Given the description of an element on the screen output the (x, y) to click on. 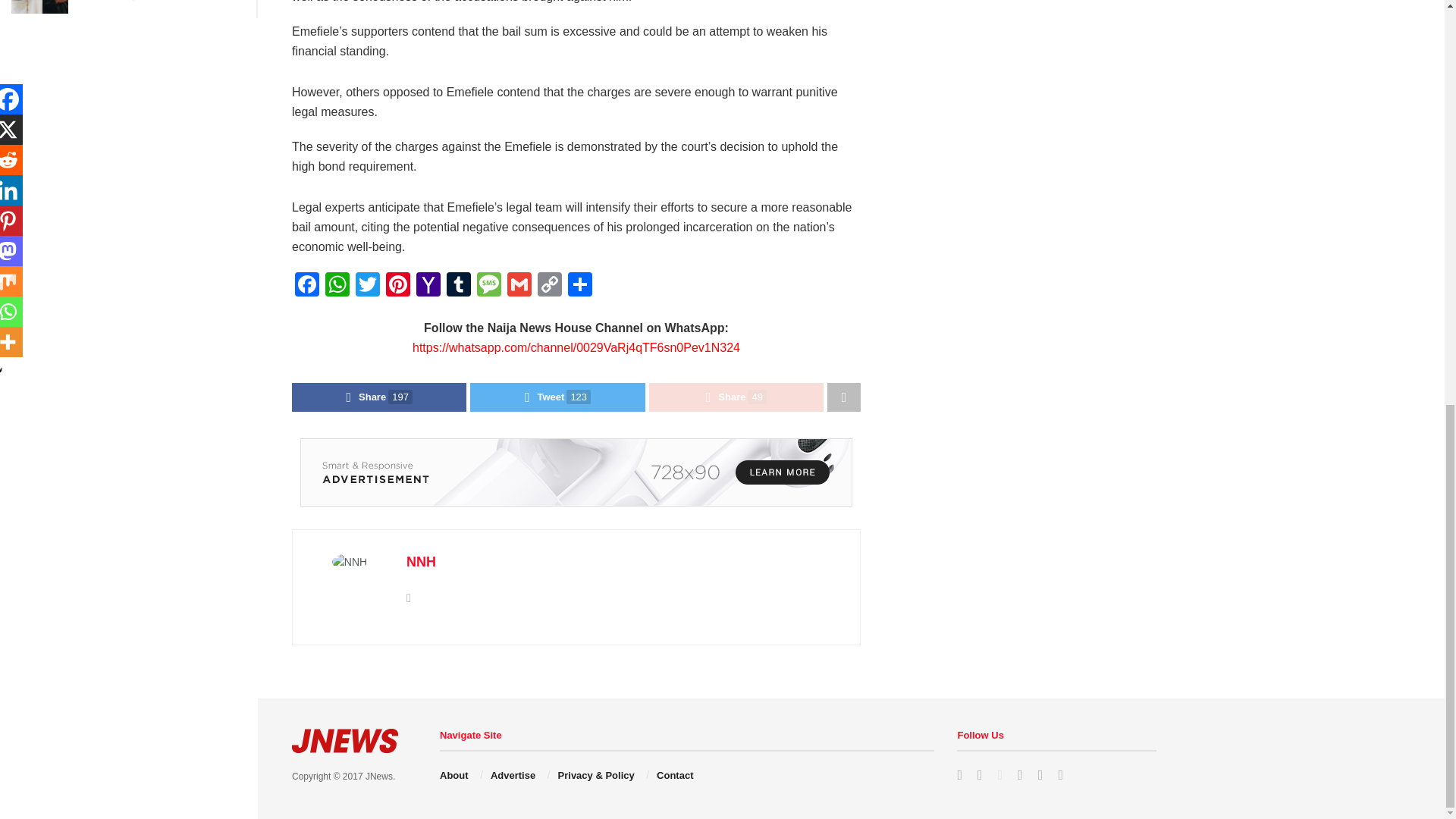
WhatsApp (336, 285)
Pinterest (397, 285)
Facebook (306, 285)
Twitter (367, 285)
